Given the description of an element on the screen output the (x, y) to click on. 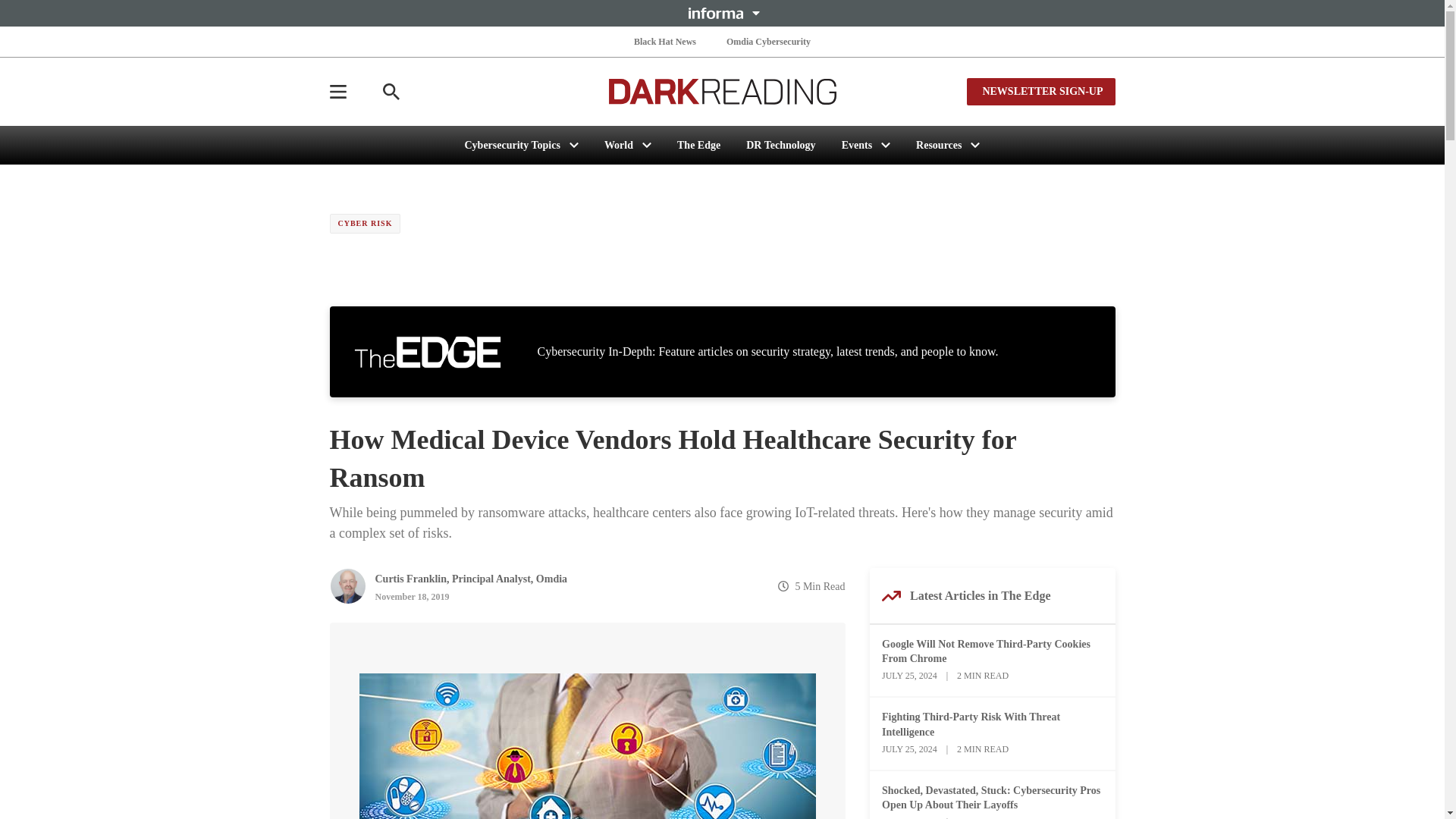
The Edge Logo (426, 351)
NEWSLETTER SIGN-UP (1040, 90)
Dark Reading Logo (721, 91)
Black Hat News (664, 41)
Picture of Curtis Franklin, Principal Analyst, Omdia (347, 586)
Omdia Cybersecurity (768, 41)
